Given the description of an element on the screen output the (x, y) to click on. 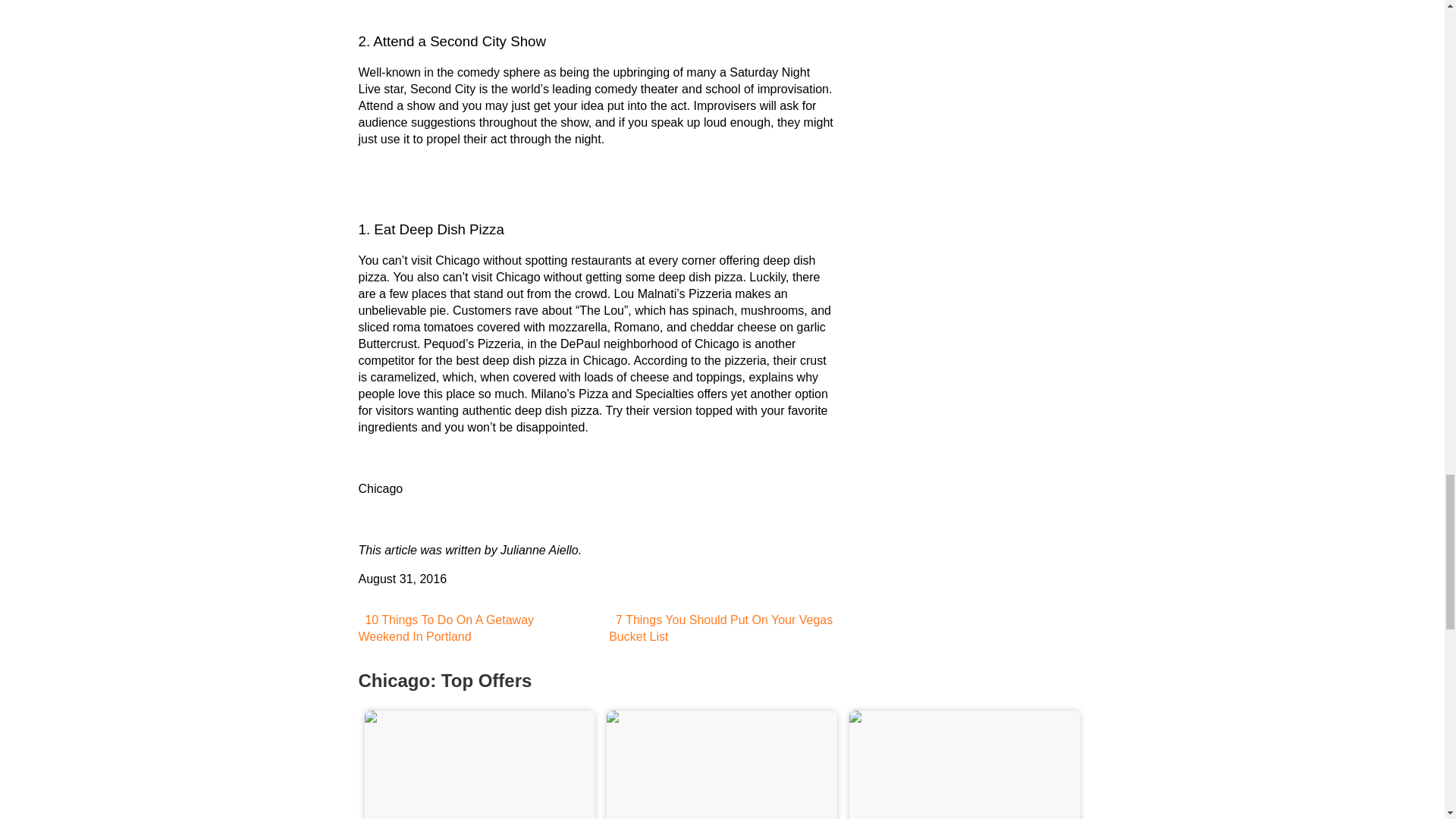
  7 Things You Should Put On Your Vegas Bucket List (720, 627)
  10 Things To Do On A Getaway Weekend In Portland (446, 627)
